Given the description of an element on the screen output the (x, y) to click on. 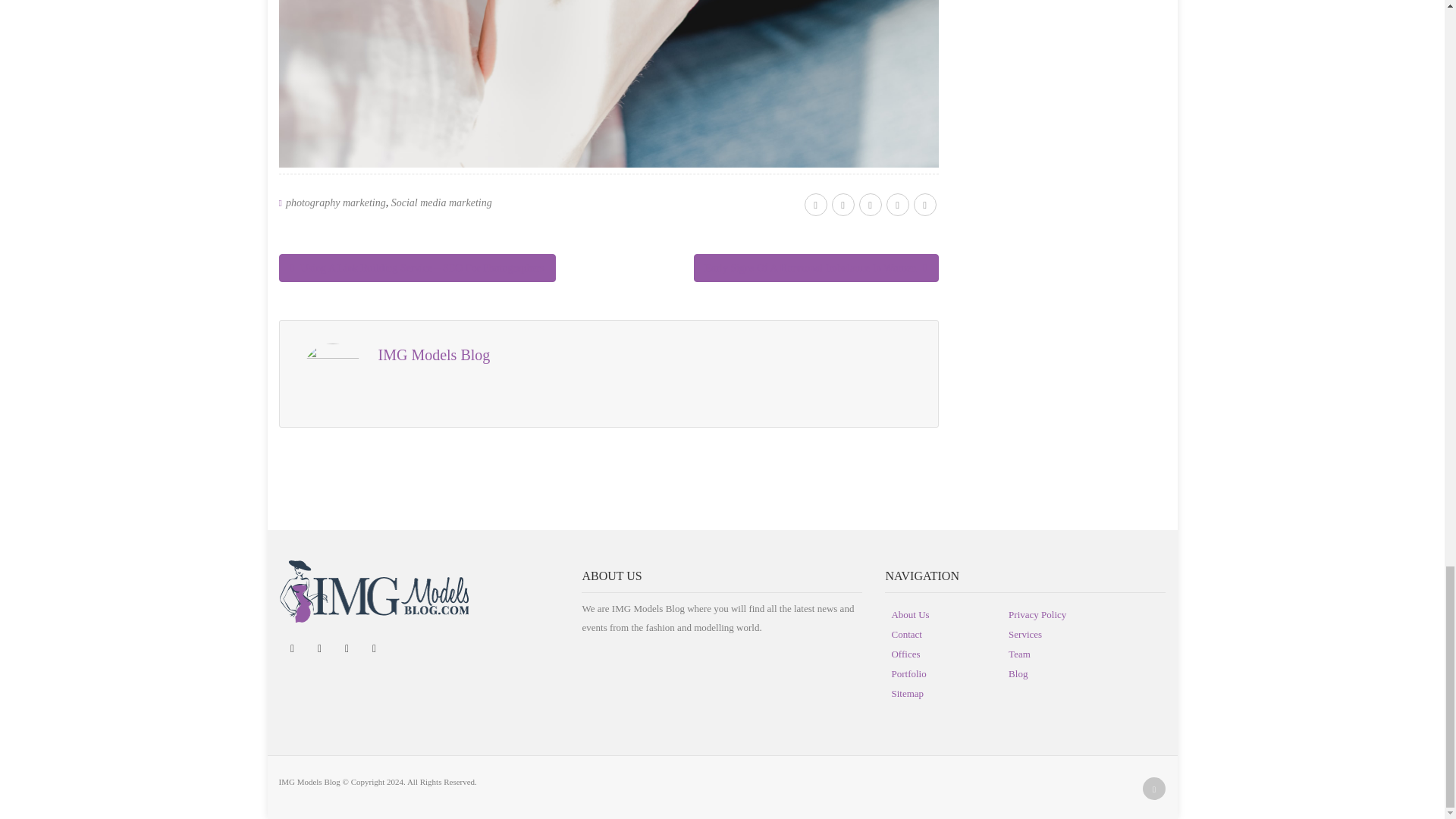
Social media marketing (441, 202)
Early Signs Of A Hormonal Imbalance In Women (816, 267)
IMG Models Blog (433, 354)
photography marketing (335, 202)
